Given the description of an element on the screen output the (x, y) to click on. 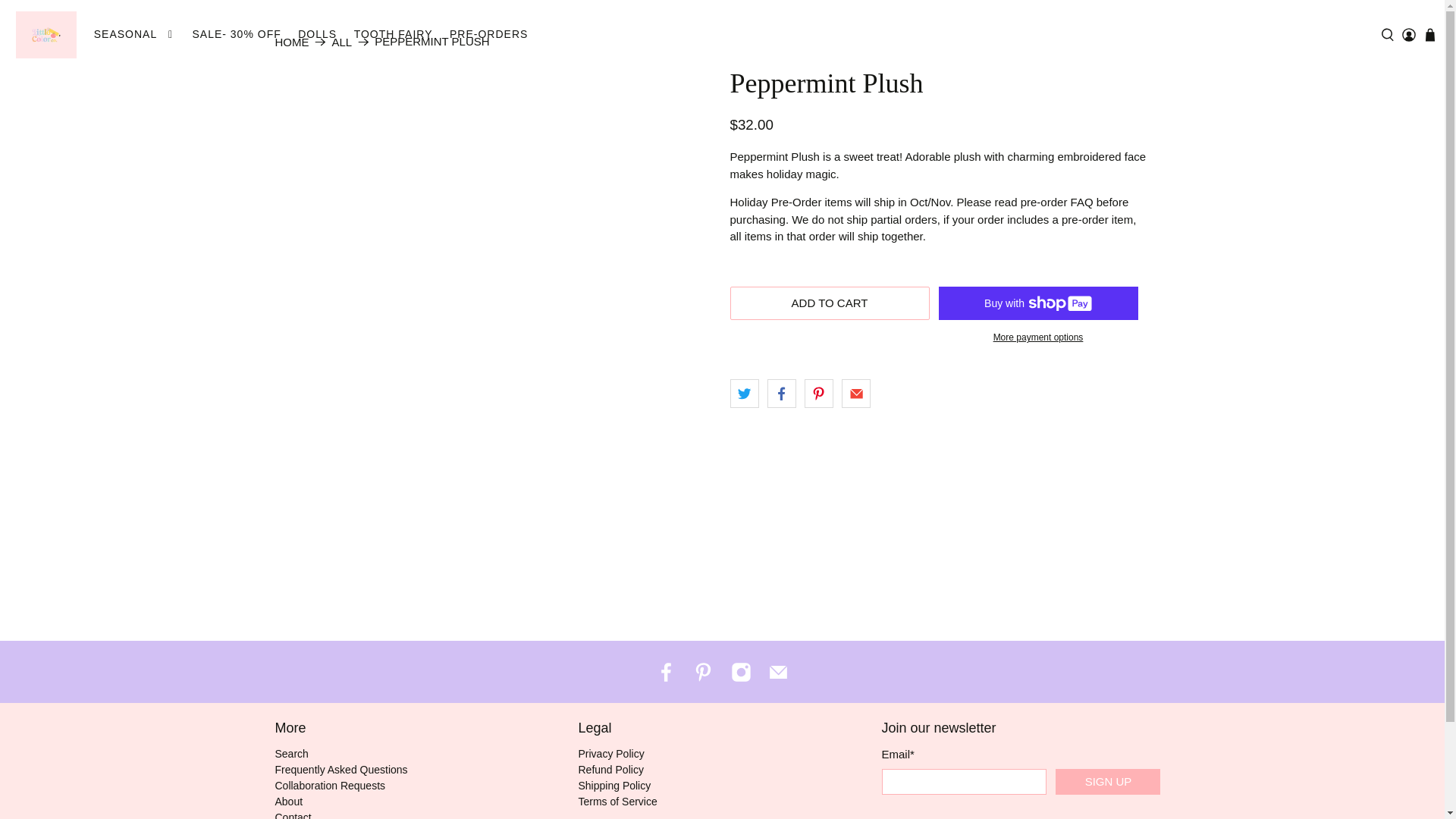
Share this on Twitter (743, 393)
Email this to a friend (855, 393)
Little Color Company  (291, 41)
Share this on Pinterest (818, 393)
Share this on Facebook (781, 393)
SEASONAL (133, 34)
Little Color Company  (46, 34)
